Given the description of an element on the screen output the (x, y) to click on. 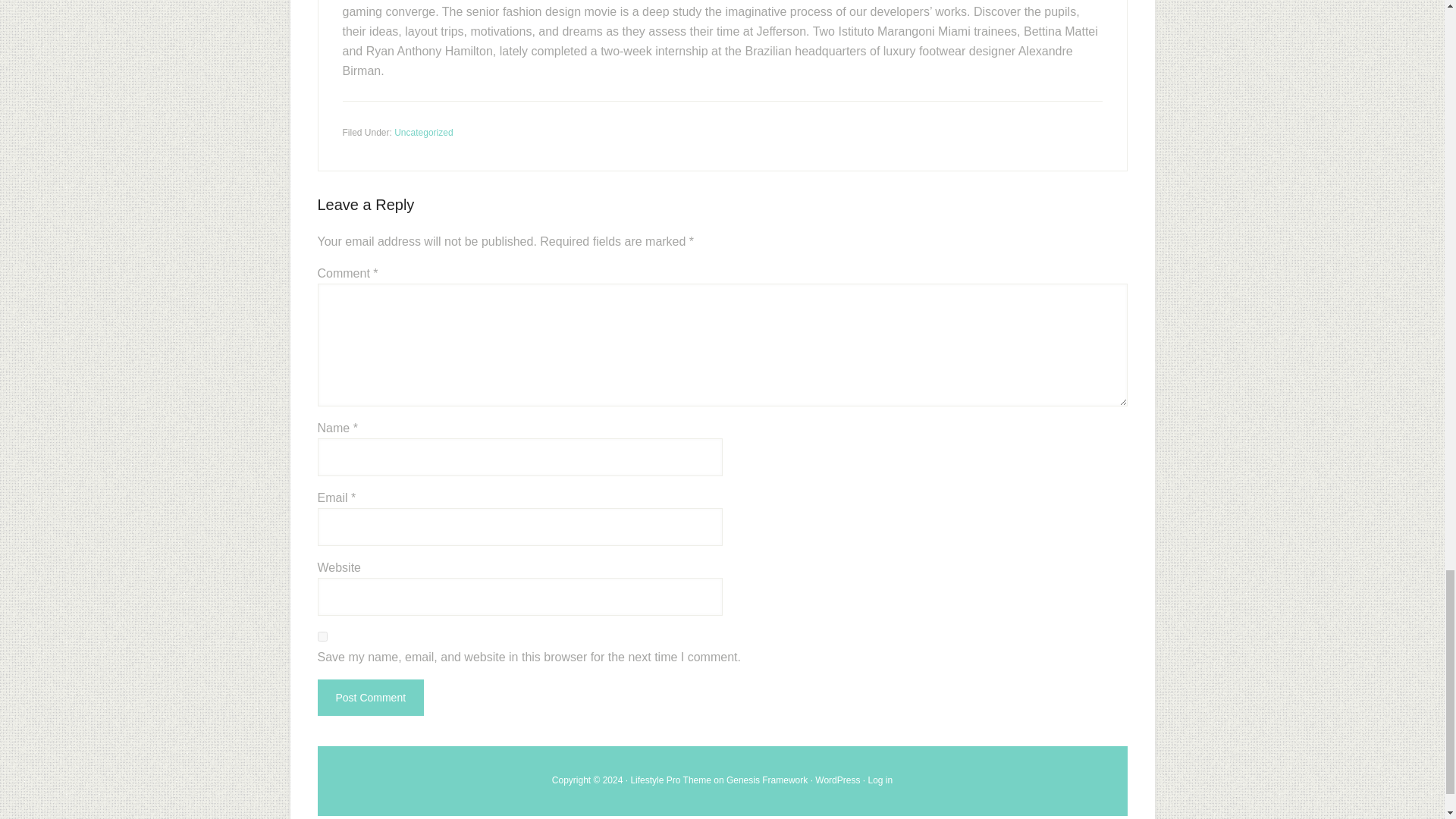
Lifestyle Pro Theme (670, 779)
WordPress (837, 779)
Log in (879, 779)
Uncategorized (423, 131)
yes (321, 636)
Post Comment (370, 697)
Genesis Framework (767, 779)
Post Comment (370, 697)
